Given the description of an element on the screen output the (x, y) to click on. 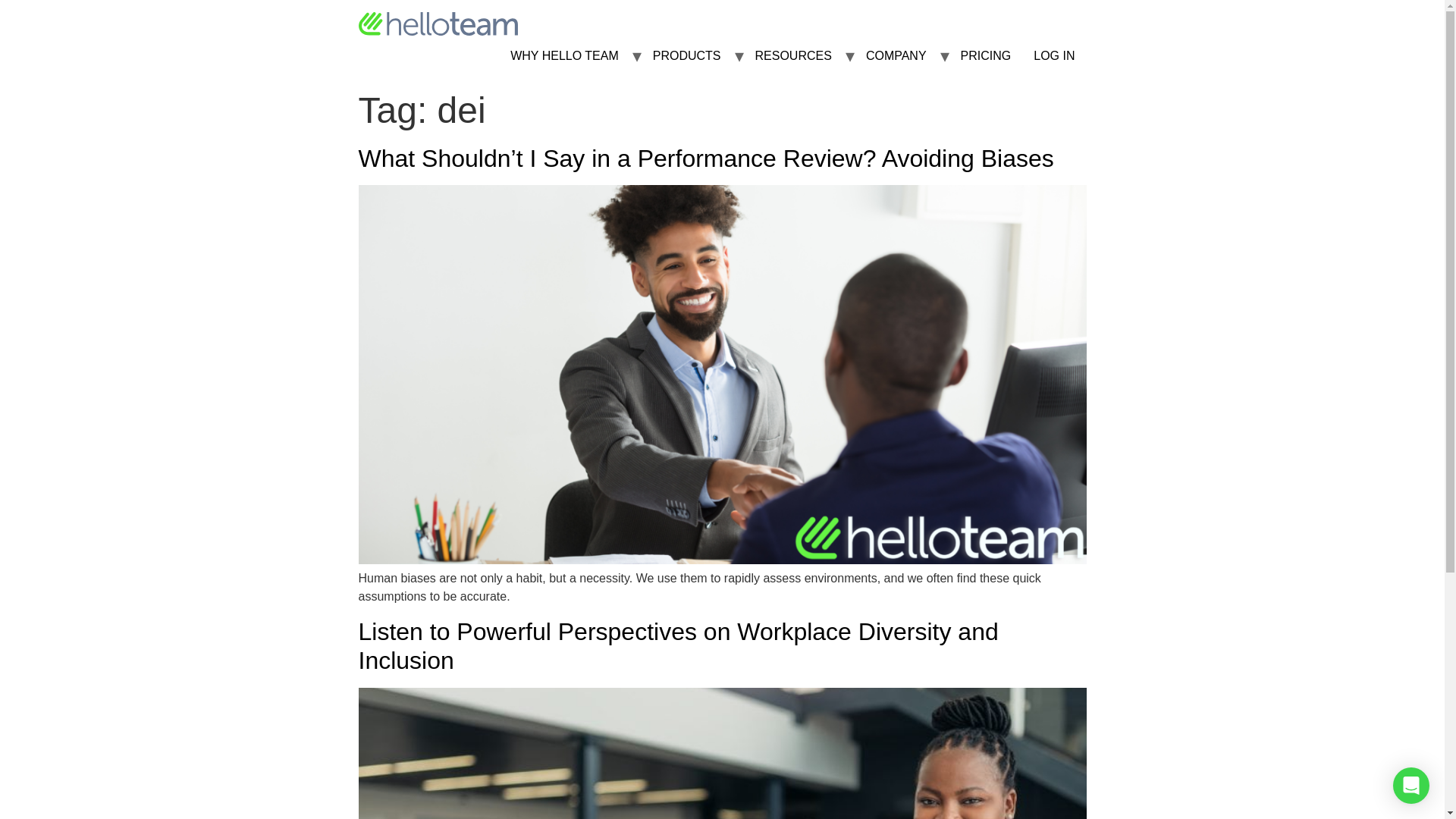
LOG IN (1054, 55)
RESOURCES (793, 55)
COMPANY (895, 55)
PRICING (986, 55)
PRODUCTS (687, 55)
WHY HELLO TEAM (564, 55)
